Given the description of an element on the screen output the (x, y) to click on. 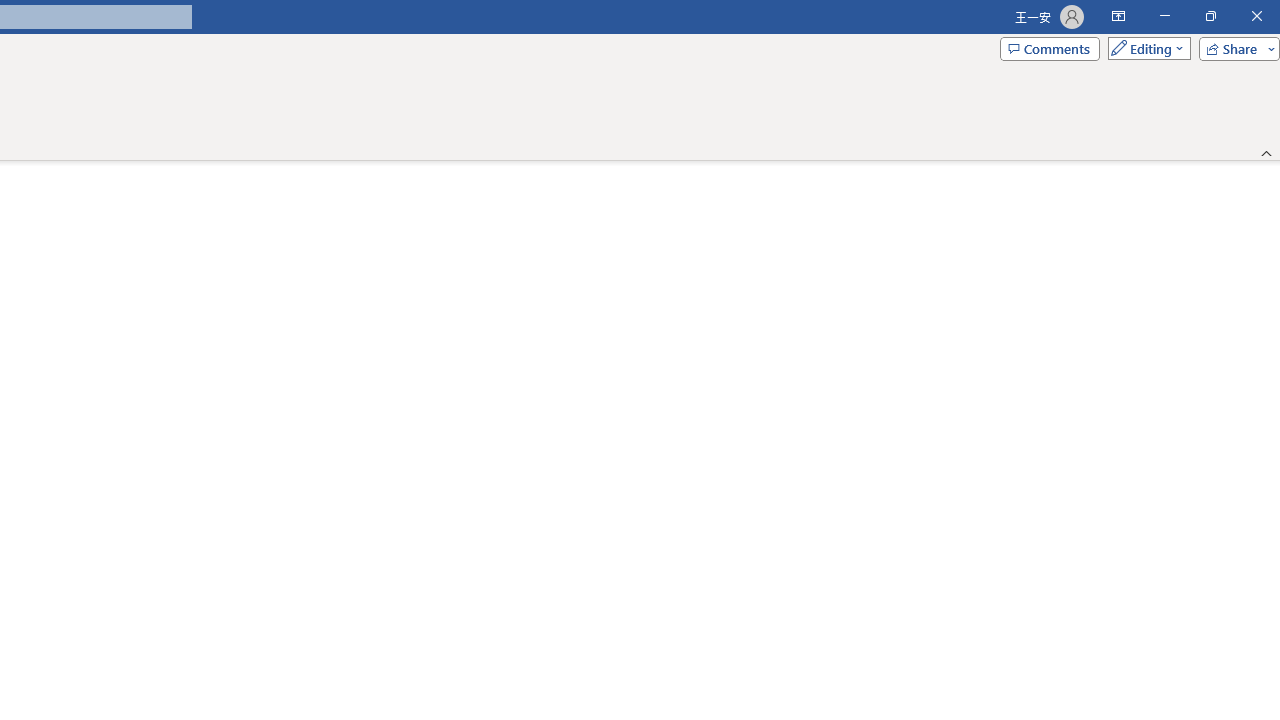
Editing (1144, 47)
